Given the description of an element on the screen output the (x, y) to click on. 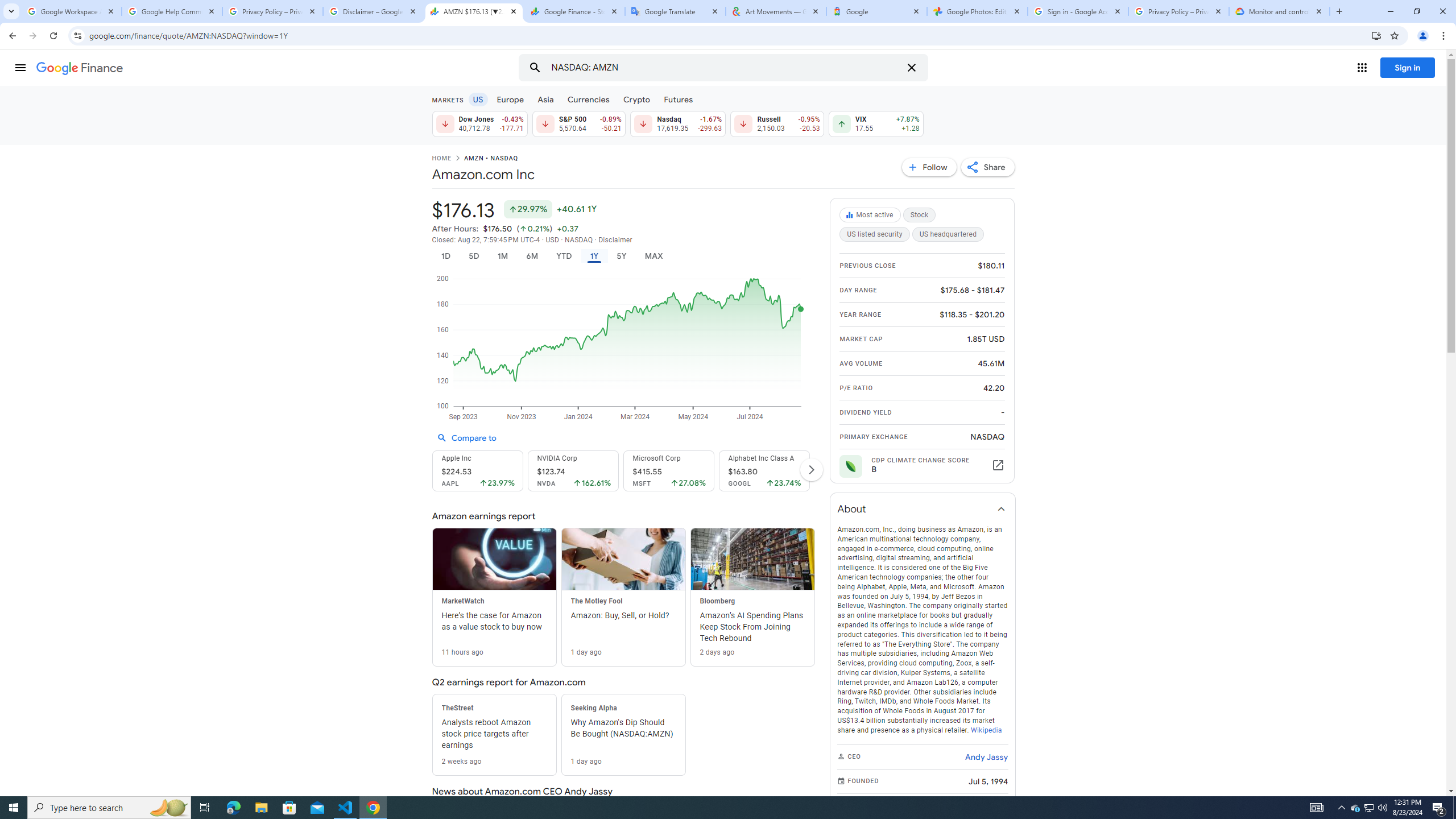
Europe (510, 99)
S&P 500 5,570.64 Down by 0.89% -50.21 (578, 123)
1M (501, 255)
6M (531, 255)
Nasdaq 17,619.35 Down by 1.67% -299.63 (678, 123)
